Given the description of an element on the screen output the (x, y) to click on. 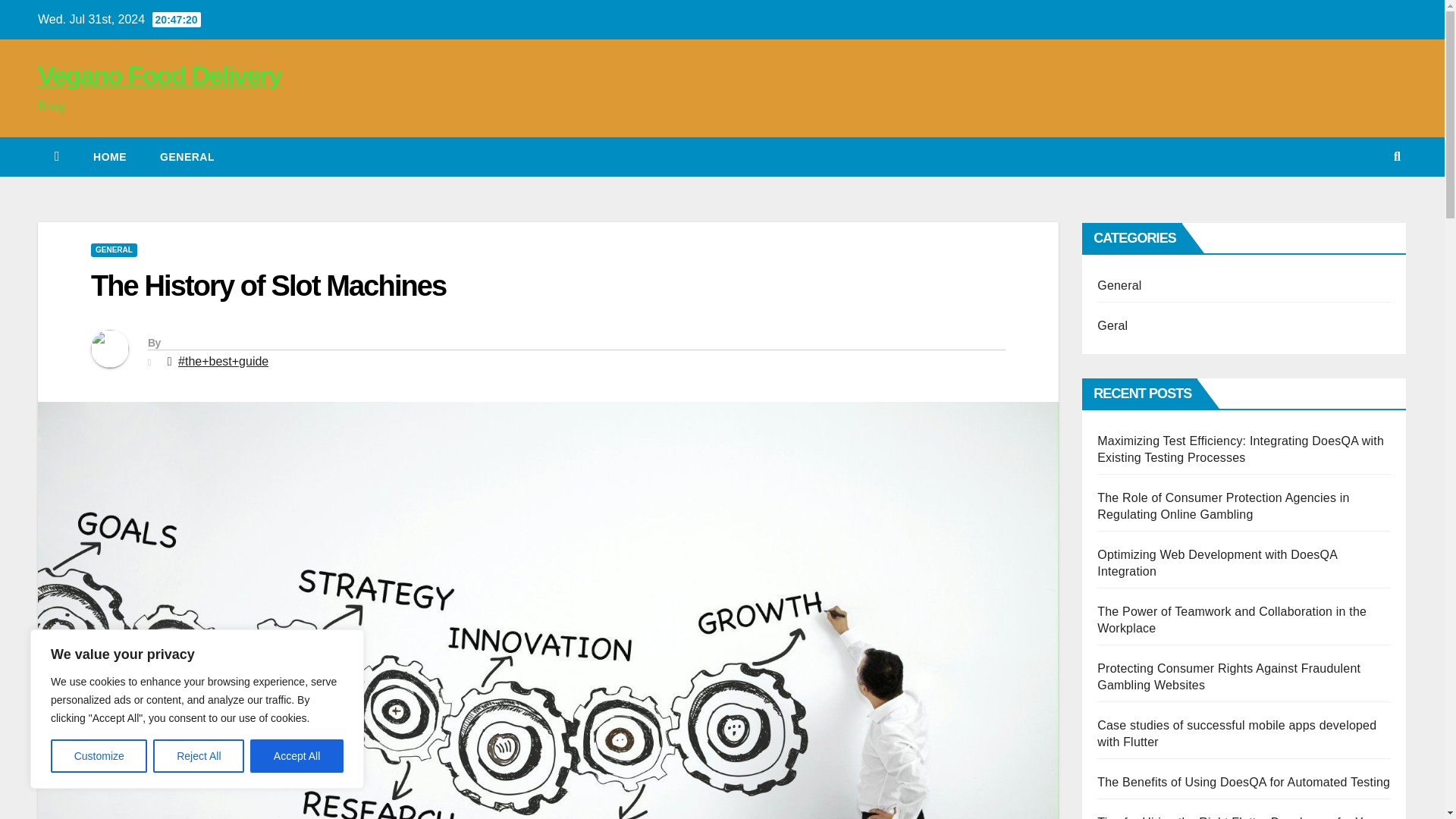
HOME (109, 156)
Permalink to: The History of Slot Machines (267, 286)
Vegano Food Delivery (159, 74)
Home (109, 156)
GENERAL (113, 250)
GENERAL (186, 156)
General (186, 156)
Customize (98, 756)
Reject All (198, 756)
The History of Slot Machines (267, 286)
